Given the description of an element on the screen output the (x, y) to click on. 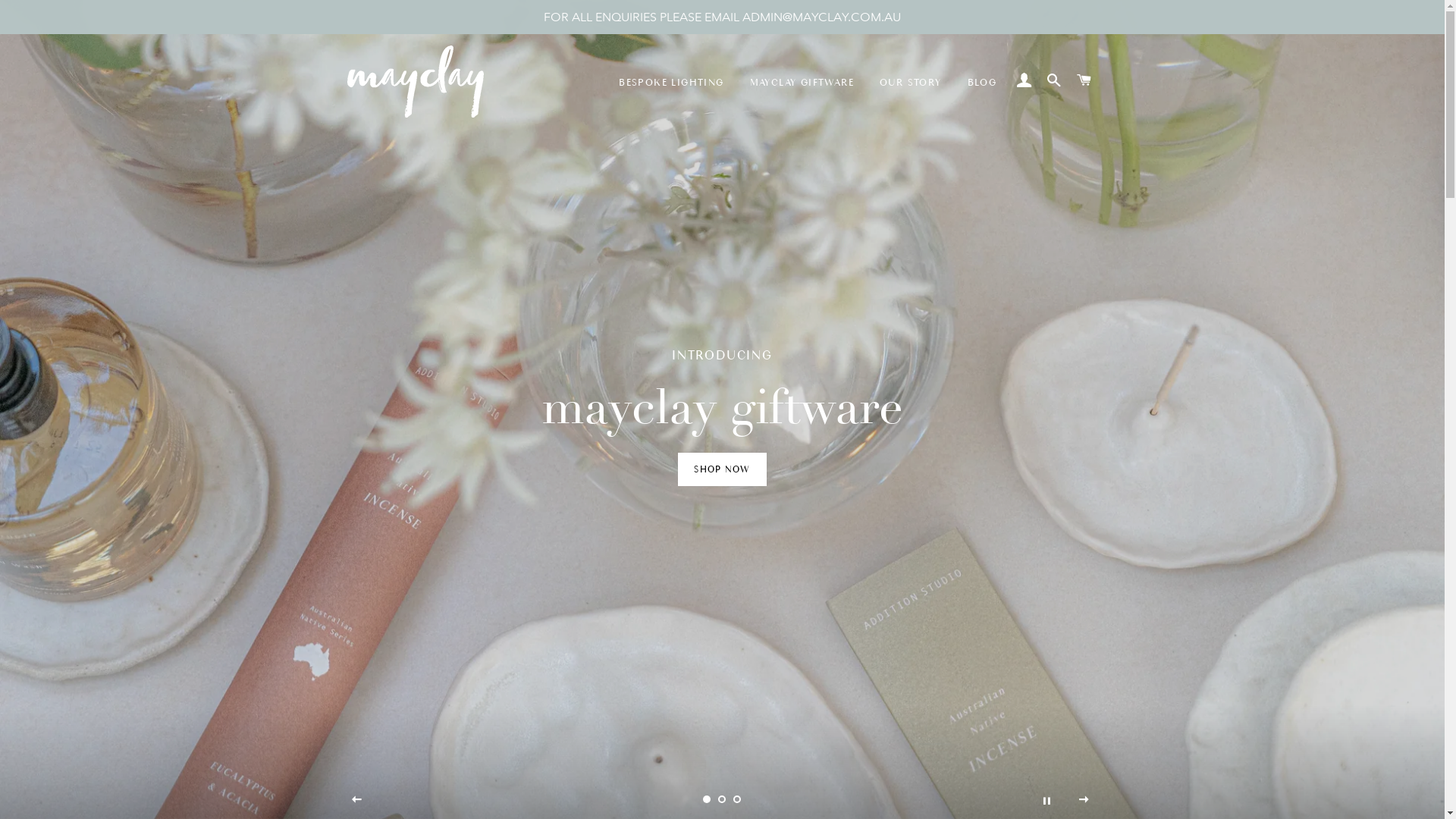
Cart Element type: text (1083, 80)
MAYCLAY GIFTWARE Element type: text (801, 82)
Search Element type: text (1054, 80)
OUR STORY Element type: text (910, 82)
EXPLORE PIECES Element type: text (722, 469)
Log In Element type: text (1023, 80)
FOR ALL ENQUIRIES PLEASE EMAIL ADMIN@MAYCLAY.COM.AU Element type: text (722, 17)
BESPOKE LIGHTING Element type: text (670, 82)
BLOG Element type: text (982, 82)
